Given the description of an element on the screen output the (x, y) to click on. 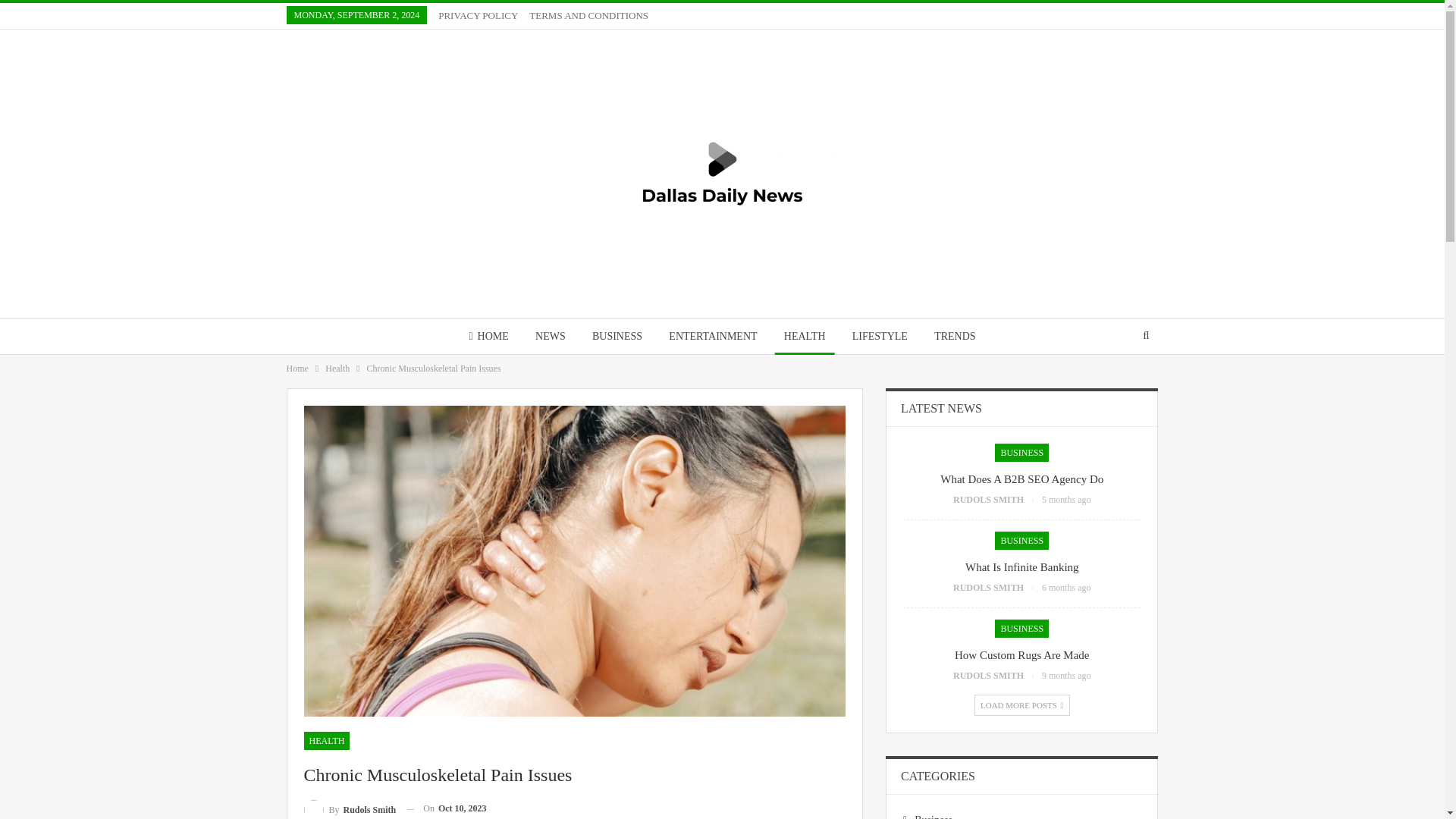
PRIVACY POLICY (478, 15)
BUSINESS (616, 335)
LIFESTYLE (880, 335)
HEALTH (804, 335)
Home (297, 368)
HEALTH (325, 741)
TERMS AND CONDITIONS (588, 15)
Health (336, 368)
HOME (488, 335)
Browse Author Articles (349, 808)
